Given the description of an element on the screen output the (x, y) to click on. 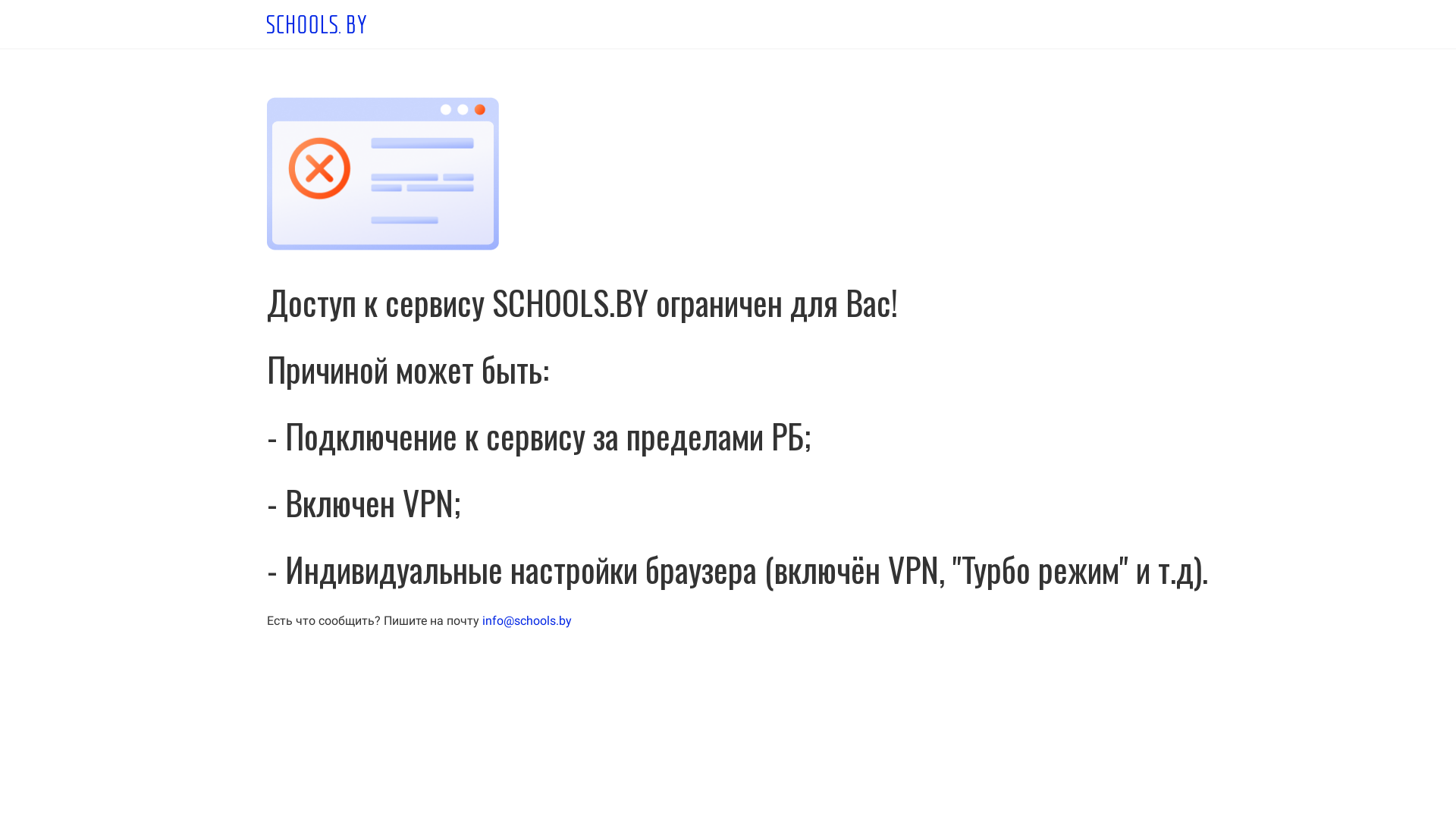
info@schools.by Element type: text (526, 620)
